Given the description of an element on the screen output the (x, y) to click on. 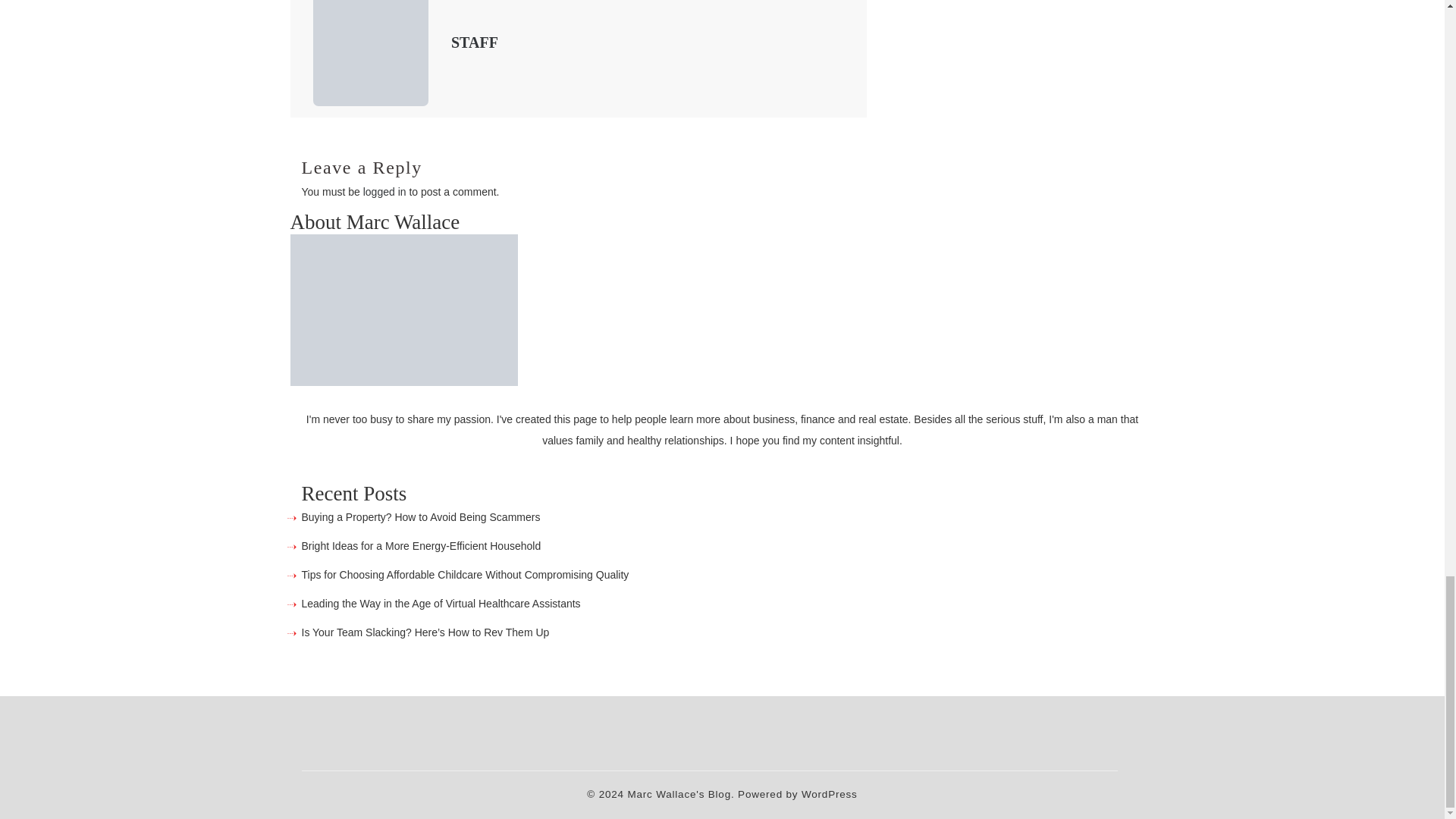
Powered by WordPress (797, 794)
Bright Ideas for a More Energy-Efficient Household (421, 545)
Marc Wallace's Blog. (680, 794)
Buying a Property? How to Avoid Being Scammers  (422, 517)
STAFF (474, 42)
logged in (384, 191)
Leading the Way in the Age of Virtual Healthcare Assistants (440, 603)
